Given the description of an element on the screen output the (x, y) to click on. 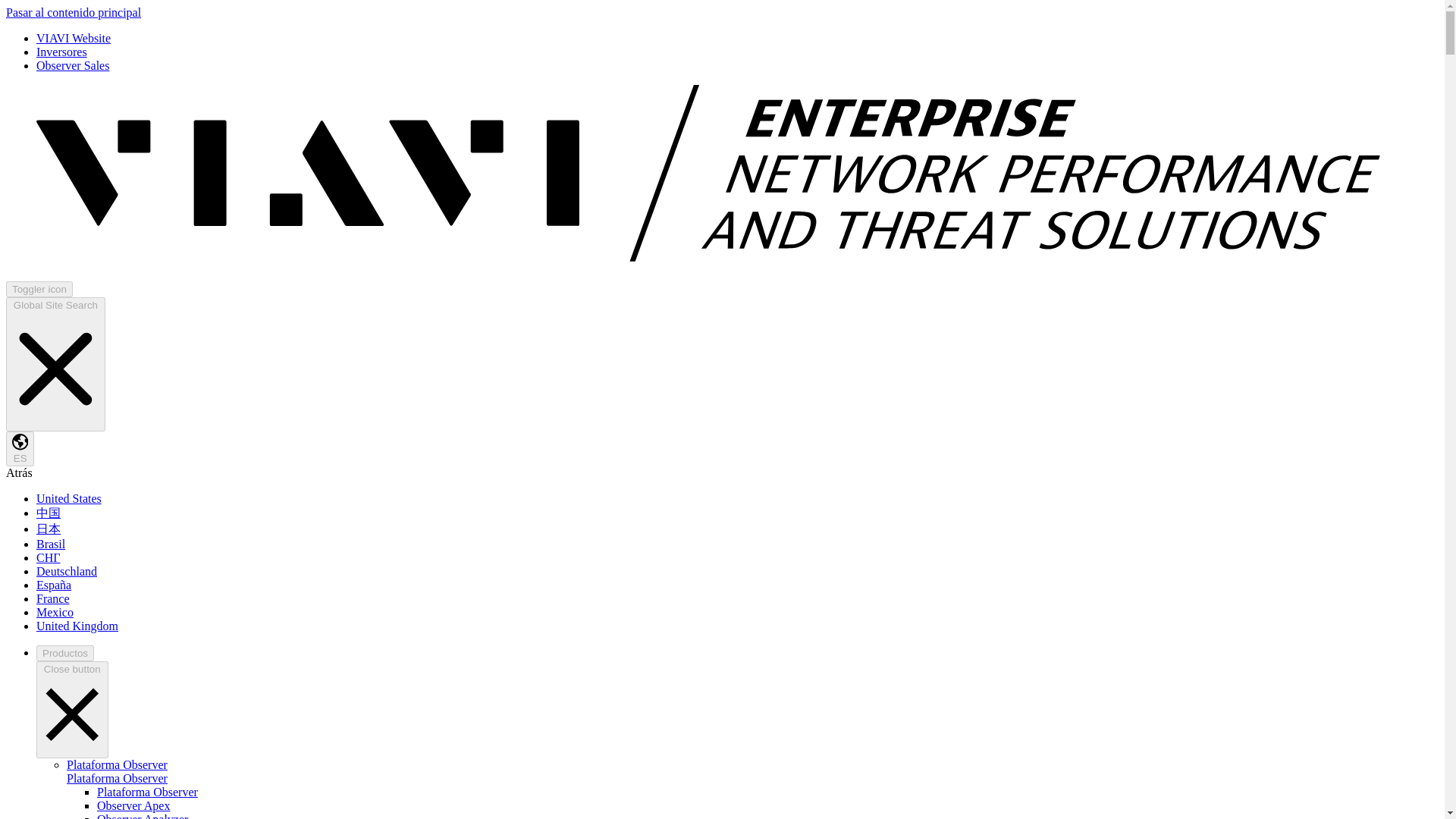
VIAVI Website (73, 38)
Observer Sales (72, 65)
United Kingdom (76, 625)
Observer Analyzer (142, 816)
Pasar al contenido principal (73, 11)
Plataforma Observer (116, 764)
Brasil (50, 543)
Inversores (61, 51)
United States (68, 498)
Deutschland (66, 571)
Plataforma Observer (116, 778)
Observer Apex (133, 805)
Mexico (55, 612)
